Given the description of an element on the screen output the (x, y) to click on. 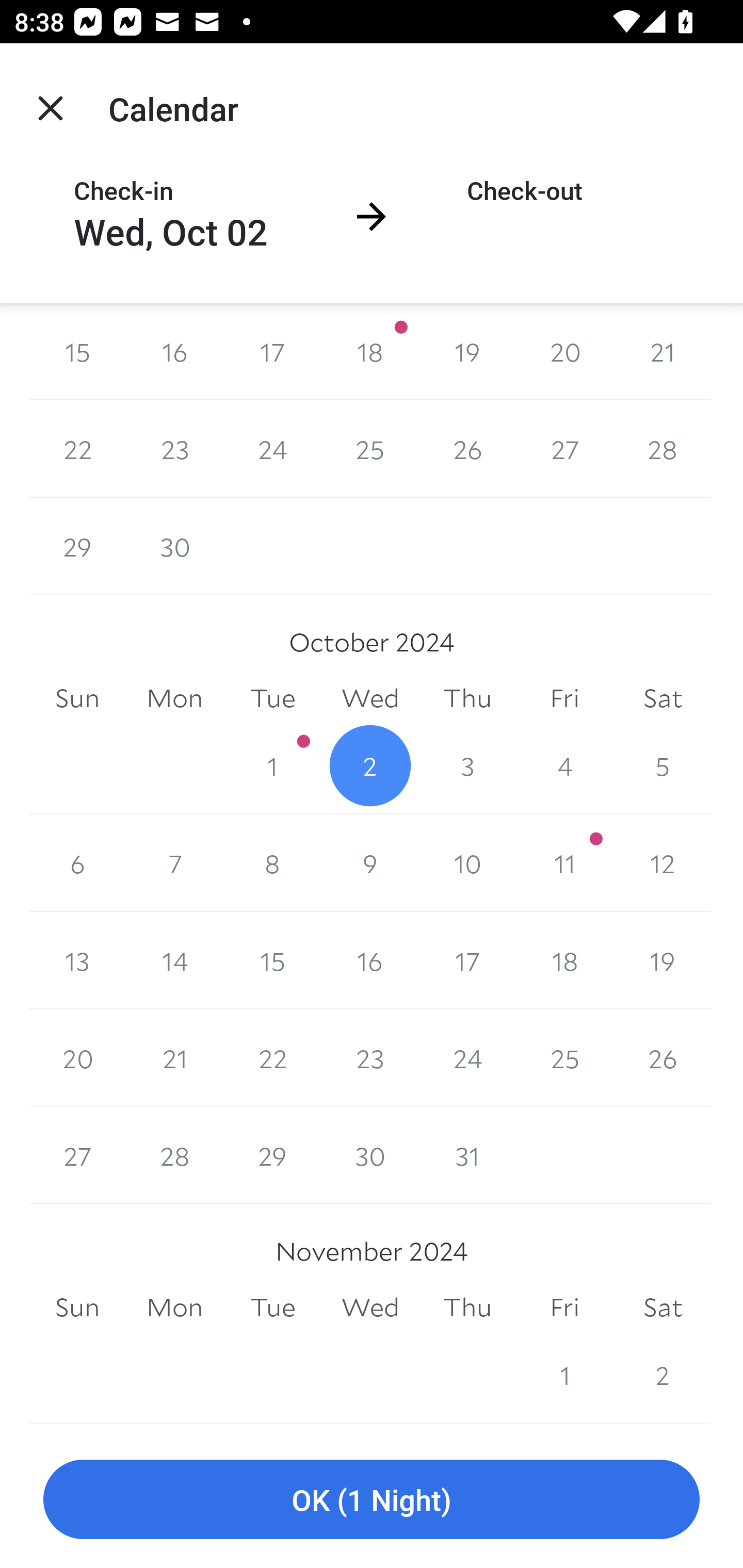
15 15 September 2024 (77, 350)
16 16 September 2024 (174, 350)
17 17 September 2024 (272, 350)
18 18 September 2024 (370, 350)
19 19 September 2024 (467, 350)
20 20 September 2024 (564, 350)
21 21 September 2024 (662, 350)
22 22 September 2024 (77, 448)
23 23 September 2024 (174, 448)
24 24 September 2024 (272, 448)
25 25 September 2024 (370, 448)
26 26 September 2024 (467, 448)
27 27 September 2024 (564, 448)
28 28 September 2024 (662, 448)
29 29 September 2024 (77, 546)
30 30 September 2024 (174, 546)
Sun (77, 698)
Mon (174, 698)
Tue (272, 698)
Wed (370, 698)
Thu (467, 698)
Fri (564, 698)
Sat (662, 698)
1 1 October 2024 (272, 764)
2 2 October 2024 (370, 764)
3 3 October 2024 (467, 764)
4 4 October 2024 (564, 764)
5 5 October 2024 (662, 764)
6 6 October 2024 (77, 862)
7 7 October 2024 (174, 862)
8 8 October 2024 (272, 862)
9 9 October 2024 (370, 862)
10 10 October 2024 (467, 862)
11 11 October 2024 (564, 862)
12 12 October 2024 (662, 862)
13 13 October 2024 (77, 960)
14 14 October 2024 (174, 960)
15 15 October 2024 (272, 960)
16 16 October 2024 (370, 960)
17 17 October 2024 (467, 960)
18 18 October 2024 (564, 960)
19 19 October 2024 (662, 960)
20 20 October 2024 (77, 1058)
21 21 October 2024 (174, 1058)
22 22 October 2024 (272, 1058)
23 23 October 2024 (370, 1058)
24 24 October 2024 (467, 1058)
25 25 October 2024 (564, 1058)
26 26 October 2024 (662, 1058)
27 27 October 2024 (77, 1155)
28 28 October 2024 (174, 1155)
29 29 October 2024 (272, 1155)
30 30 October 2024 (370, 1155)
31 31 October 2024 (467, 1155)
Sun (77, 1307)
Mon (174, 1307)
Tue (272, 1307)
Wed (370, 1307)
Thu (467, 1307)
Fri (564, 1307)
Sat (662, 1307)
1 1 November 2024 (564, 1374)
2 2 November 2024 (662, 1374)
OK (1 Night) (371, 1499)
